Given the description of an element on the screen output the (x, y) to click on. 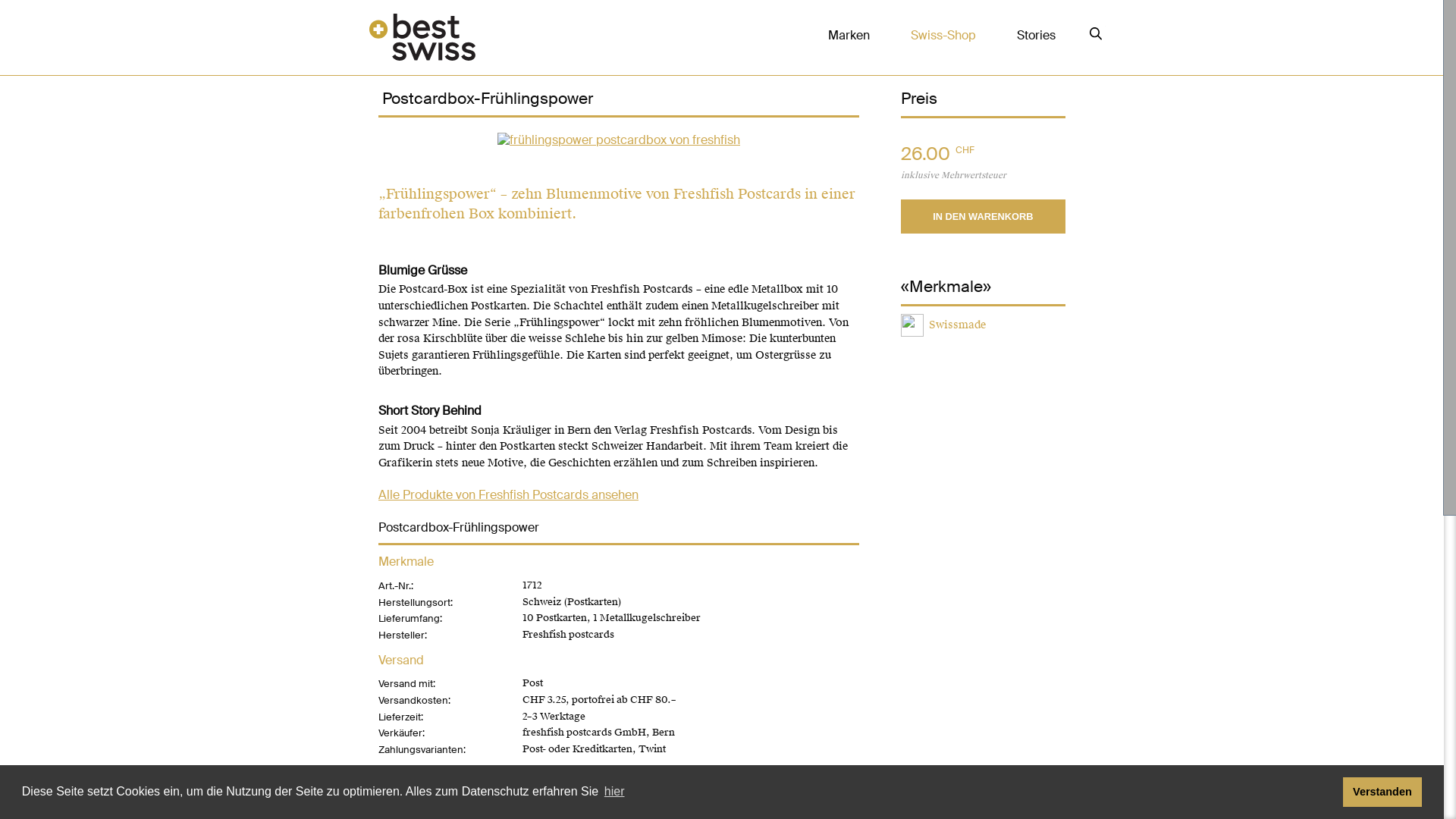
Marken Element type: text (863, 35)
IN DEN WARENKORB Element type: text (982, 216)
Bestwiss Element type: text (422, 37)
Swiss-Shop Element type: text (952, 35)
Stories Element type: text (1035, 34)
Verstanden Element type: text (1382, 791)
Alle Produkte von Freshfish Postcards ansehen Element type: text (508, 487)
hier Element type: text (614, 791)
Merkmale Element type: text (982, 286)
